Given the description of an element on the screen output the (x, y) to click on. 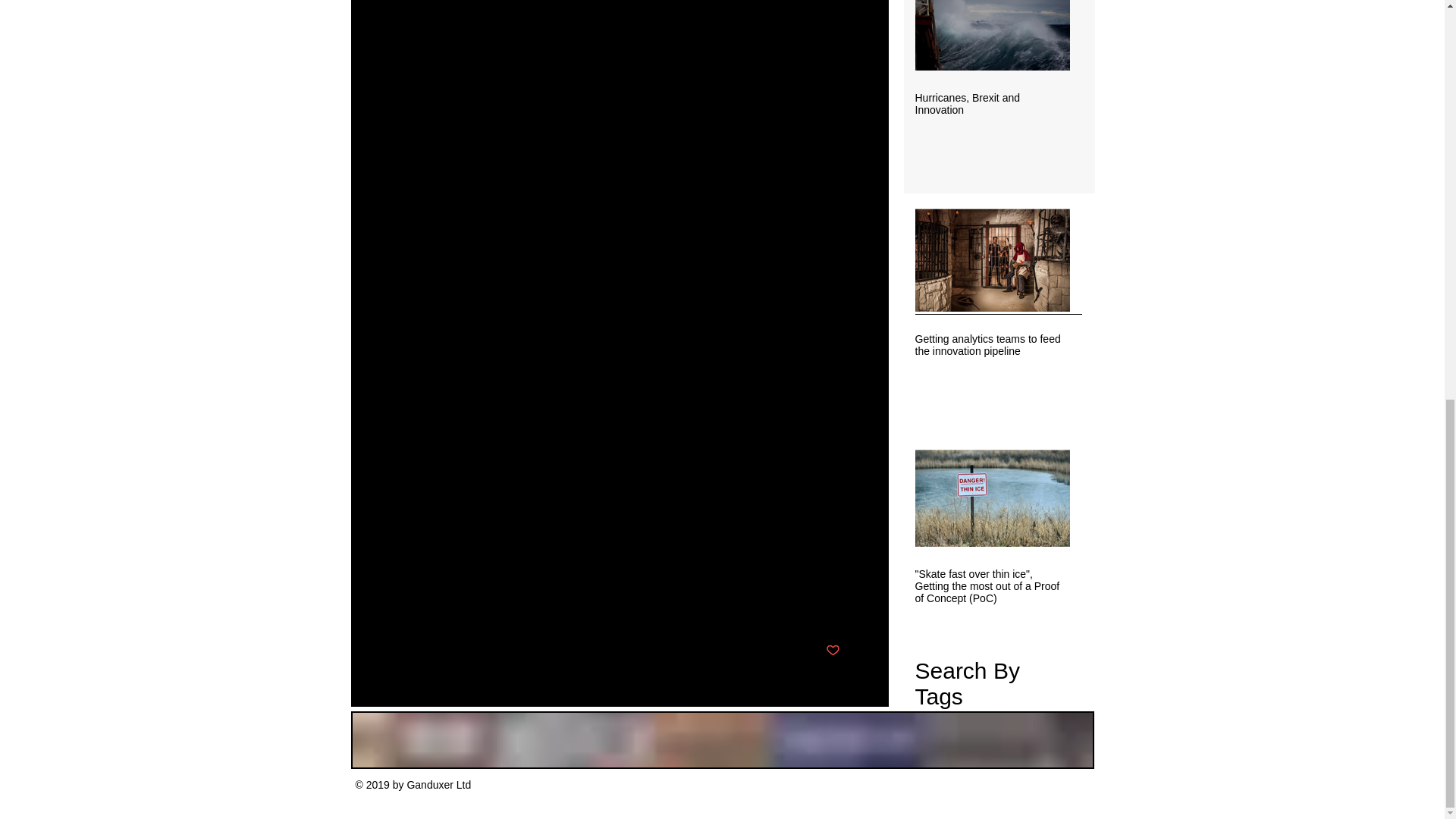
Post not marked as liked (832, 650)
Hurricanes, Brexit and Innovation (991, 103)
Getting analytics teams to feed the innovation pipeline (991, 344)
